Given the description of an element on the screen output the (x, y) to click on. 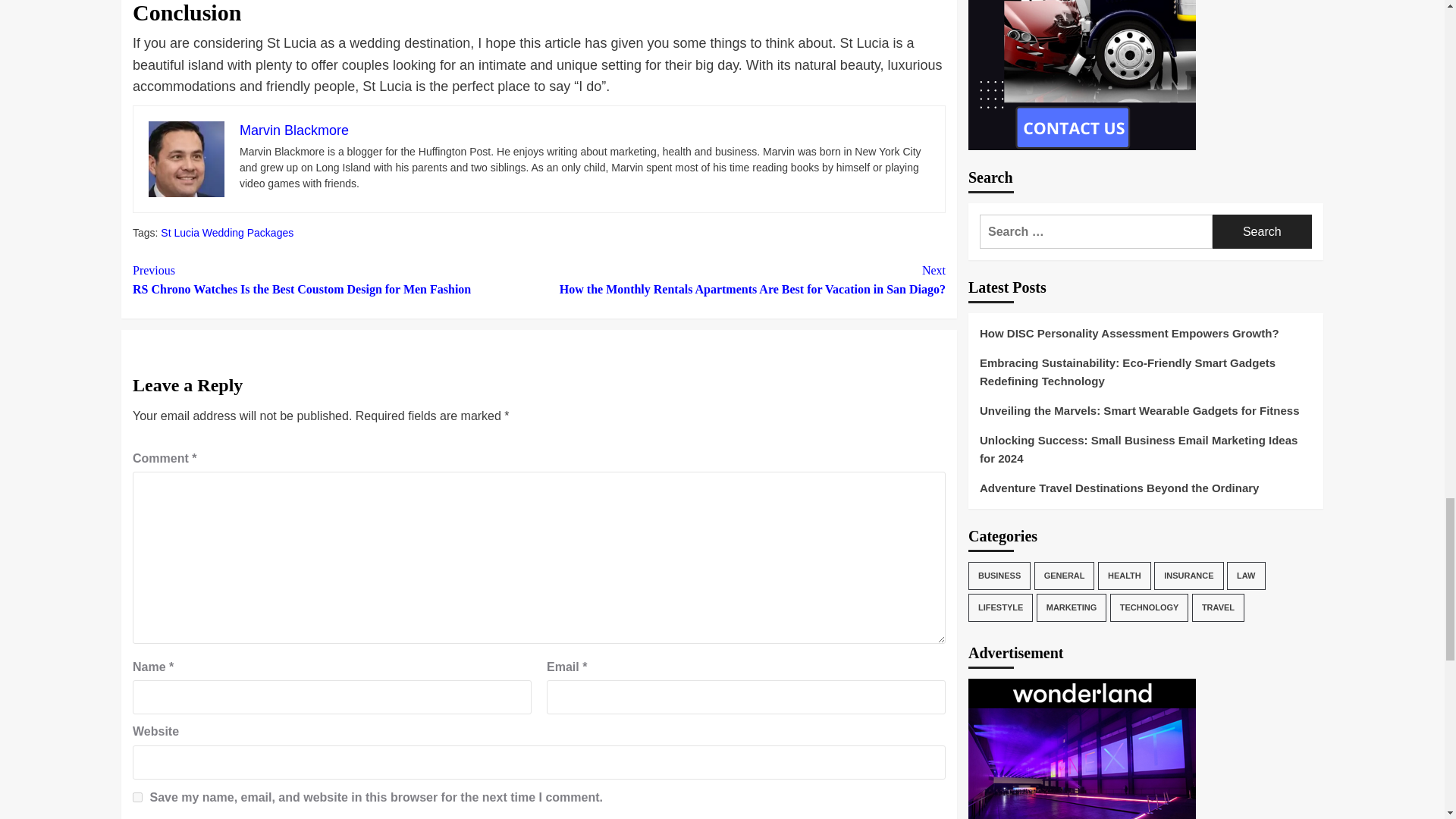
St Lucia Wedding Packages (227, 232)
Marvin Blackmore (294, 130)
yes (137, 797)
